Given the description of an element on the screen output the (x, y) to click on. 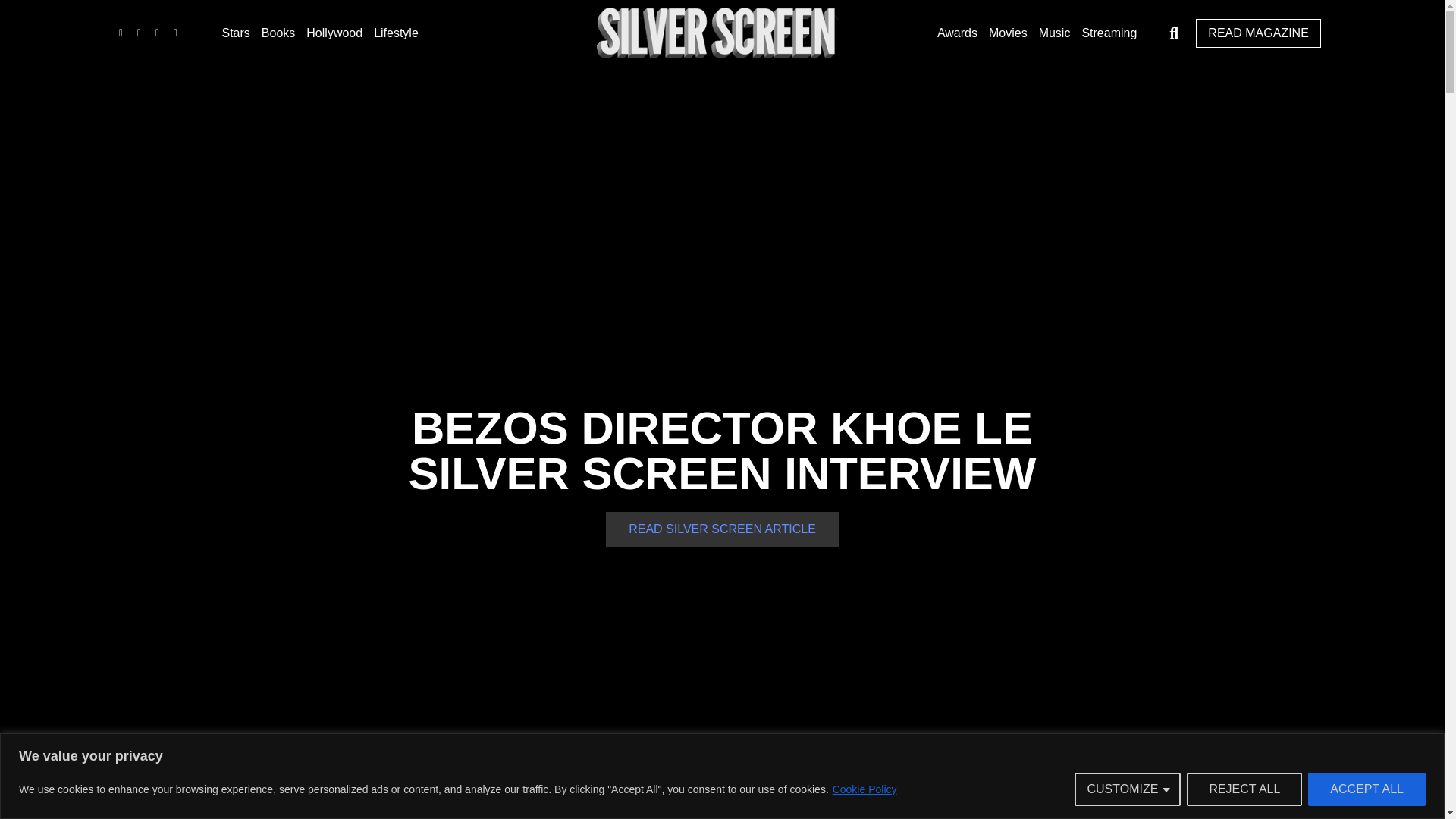
Lifestyle (396, 32)
CUSTOMIZE (1127, 788)
Awards (956, 32)
Streaming (1109, 32)
Hollywood (333, 32)
READ MAGAZINE (1257, 32)
Music (1054, 32)
ACCEPT ALL (1366, 788)
REJECT ALL (1243, 788)
Books (278, 32)
